Given the description of an element on the screen output the (x, y) to click on. 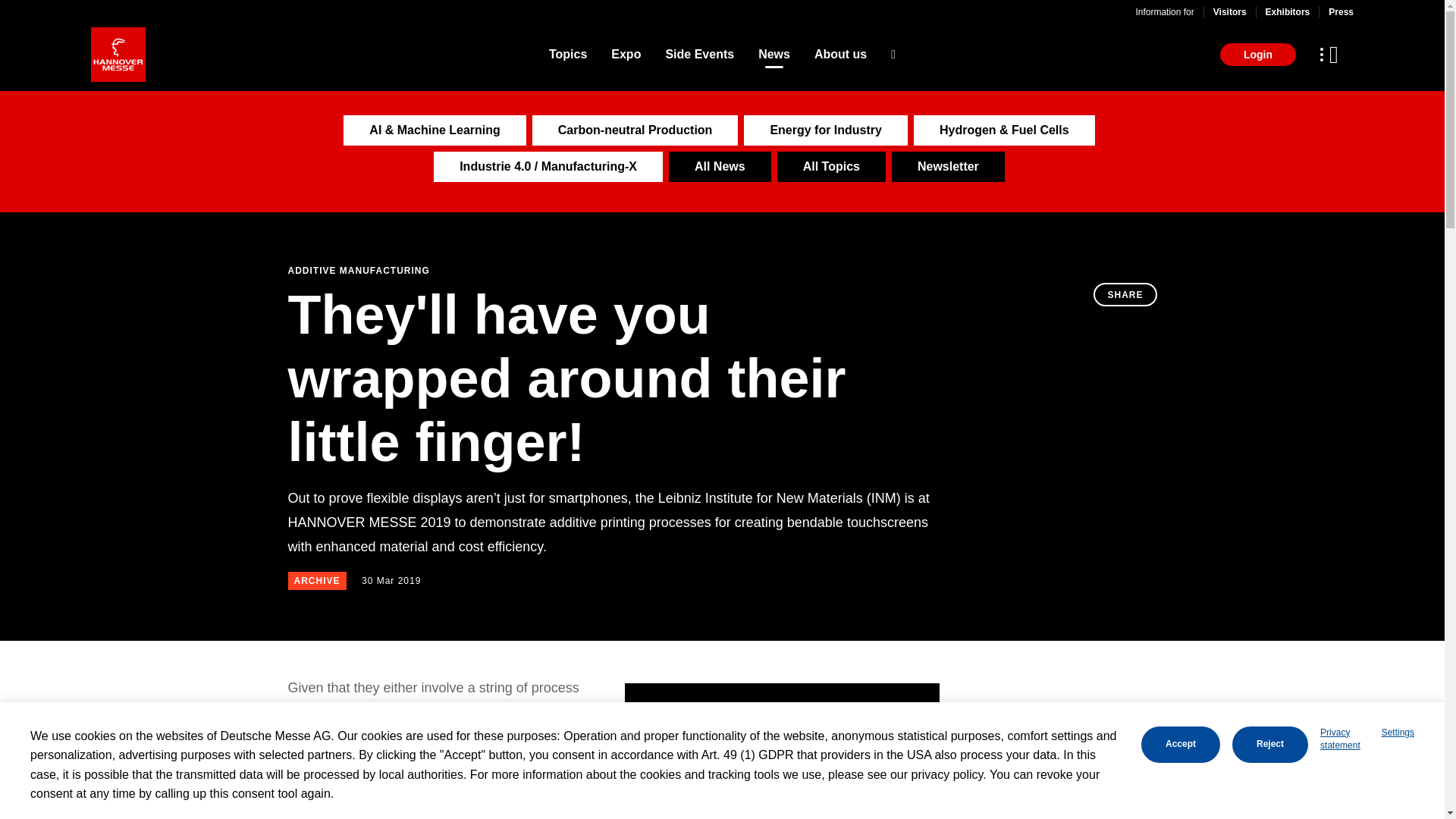
Newsletter (947, 166)
All Topics (831, 166)
Press (1340, 11)
Expo (625, 54)
Login (1257, 54)
Side Events (699, 54)
Carbon-neutral Production (635, 130)
All News (719, 166)
About us (839, 54)
Exhibitors (1287, 11)
Visitors (1229, 11)
Energy for Industry (825, 130)
News (774, 54)
Topics (567, 54)
